Given the description of an element on the screen output the (x, y) to click on. 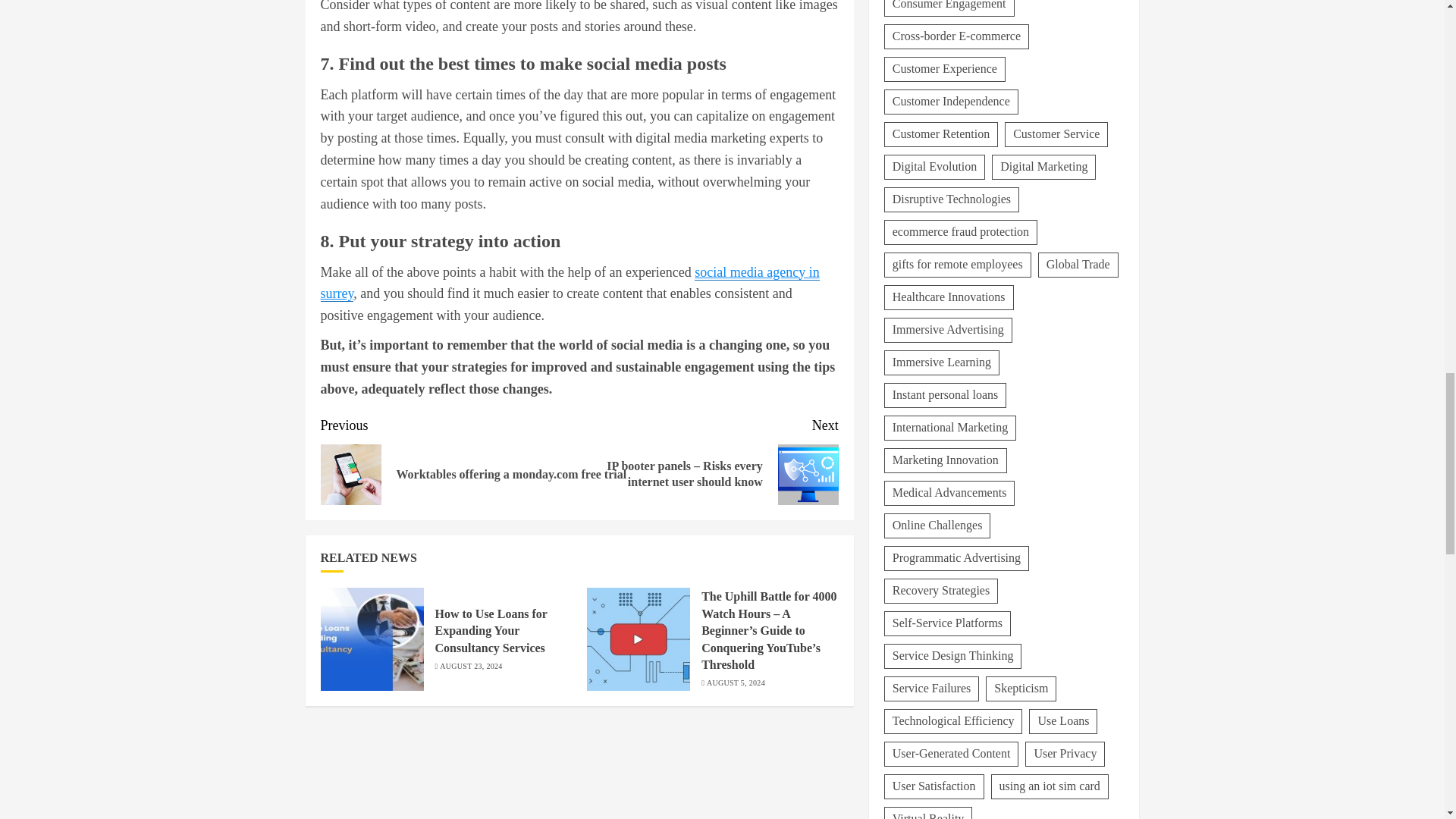
AUGUST 23, 2024 (470, 665)
AUGUST 5, 2024 (735, 683)
How to Use Loans for Expanding Your Consultancy Services (491, 631)
social media agency in surrey (569, 283)
